Given the description of an element on the screen output the (x, y) to click on. 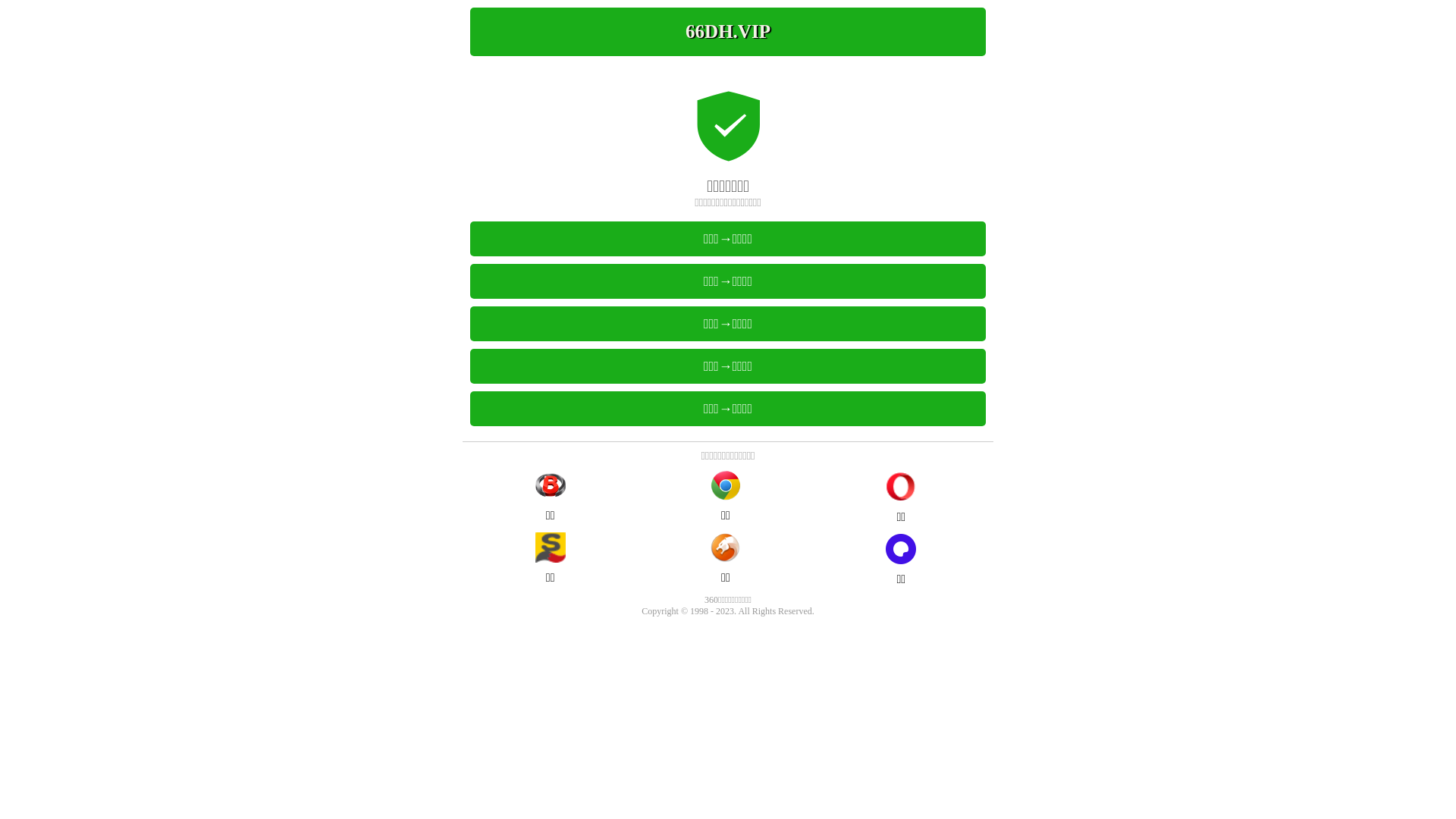
66DH.VIP Element type: text (727, 31)
